Given the description of an element on the screen output the (x, y) to click on. 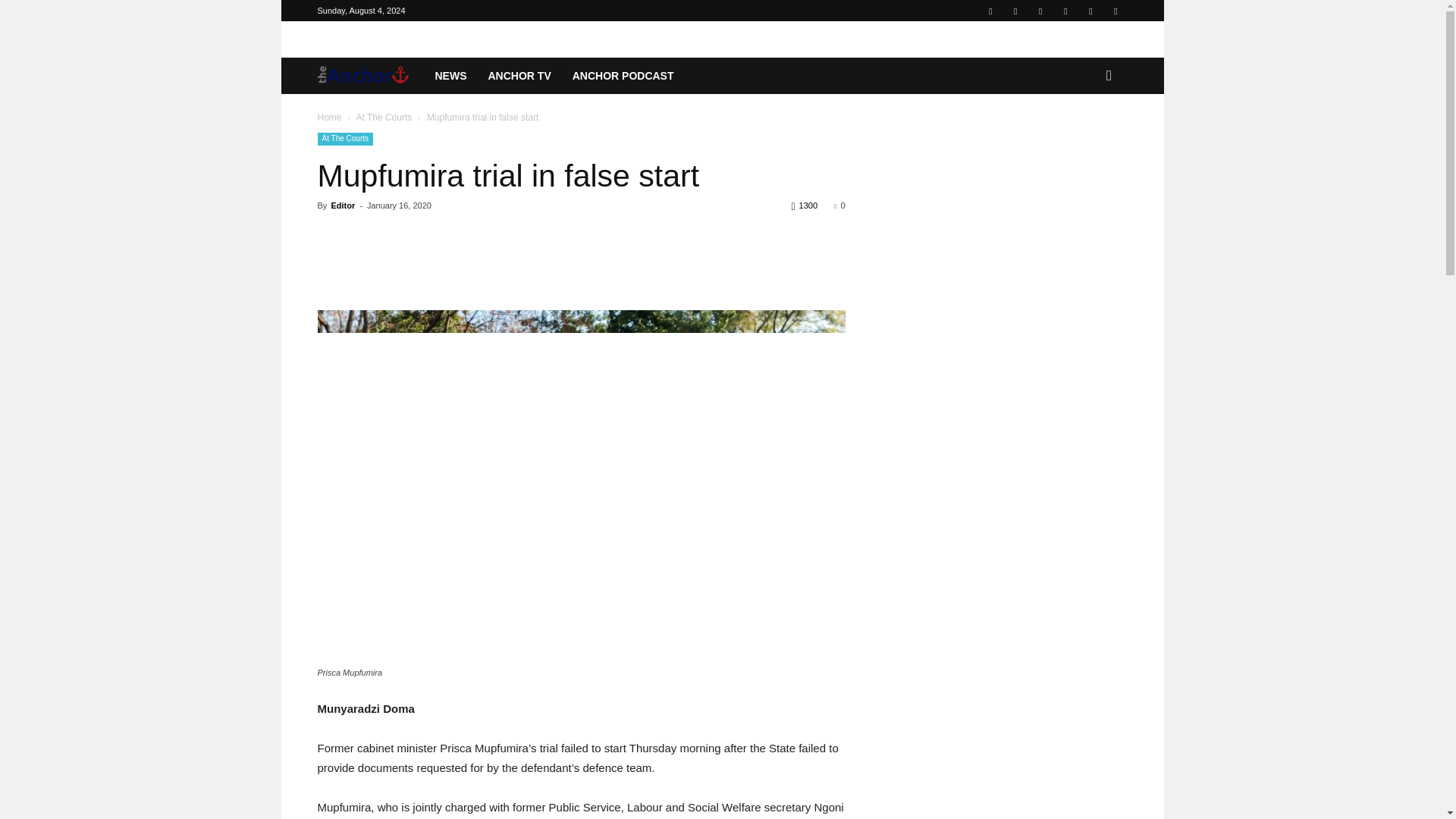
Facebook (989, 10)
ANCHOR PODCAST (623, 75)
Home (328, 117)
Twitter (1065, 10)
NEWS (451, 75)
The anchor Logo (362, 75)
Linkedin (1015, 10)
View all posts in At The Courts (383, 117)
Mail (1040, 10)
Vimeo (1090, 10)
Youtube (1114, 10)
Search (1085, 136)
At The Courts (383, 117)
ANCHOR TV (519, 75)
The Anchor (370, 76)
